Given the description of an element on the screen output the (x, y) to click on. 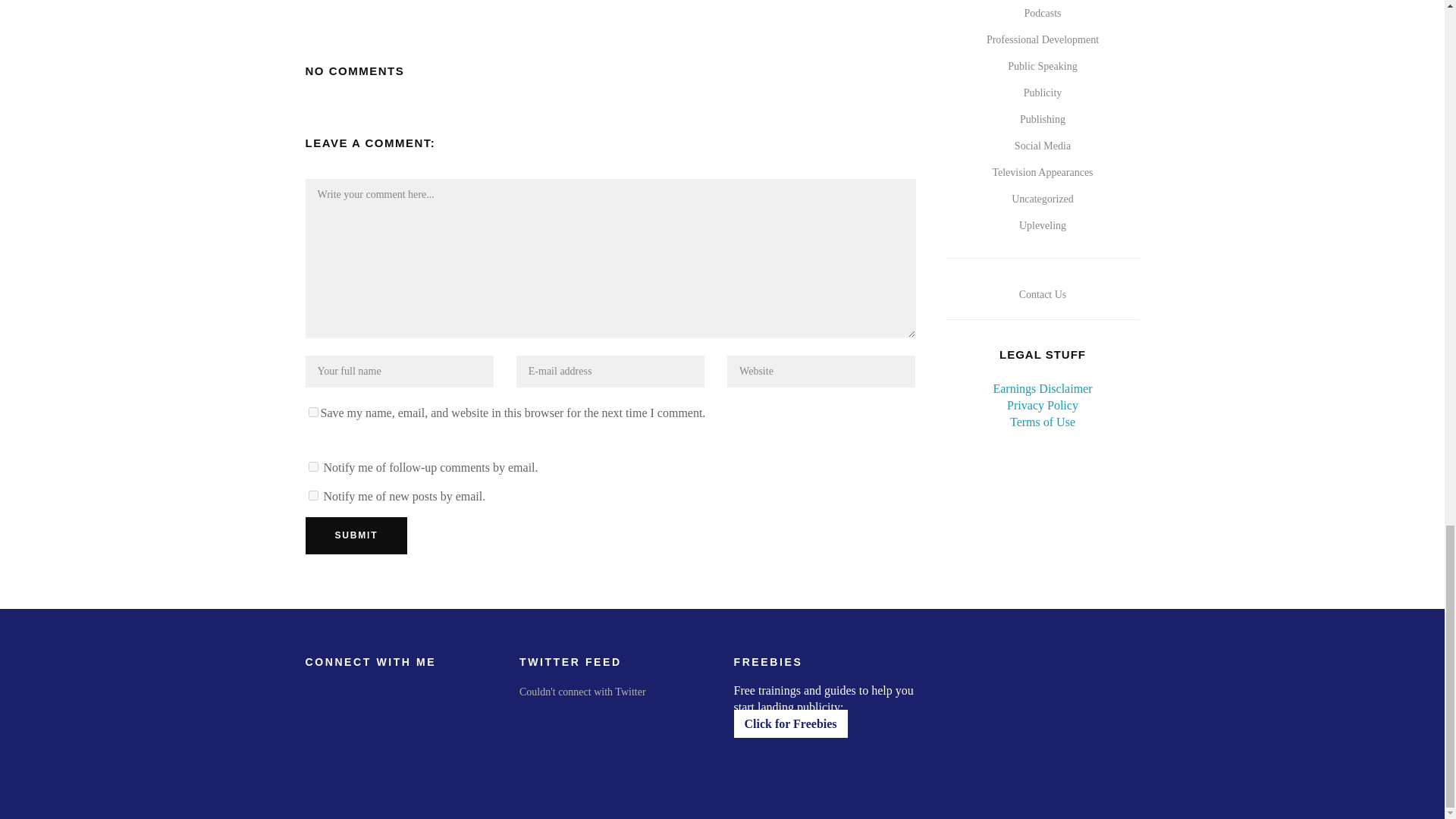
subscribe (312, 466)
subscribe (312, 495)
yes (312, 411)
Submit (355, 535)
